Given the description of an element on the screen output the (x, y) to click on. 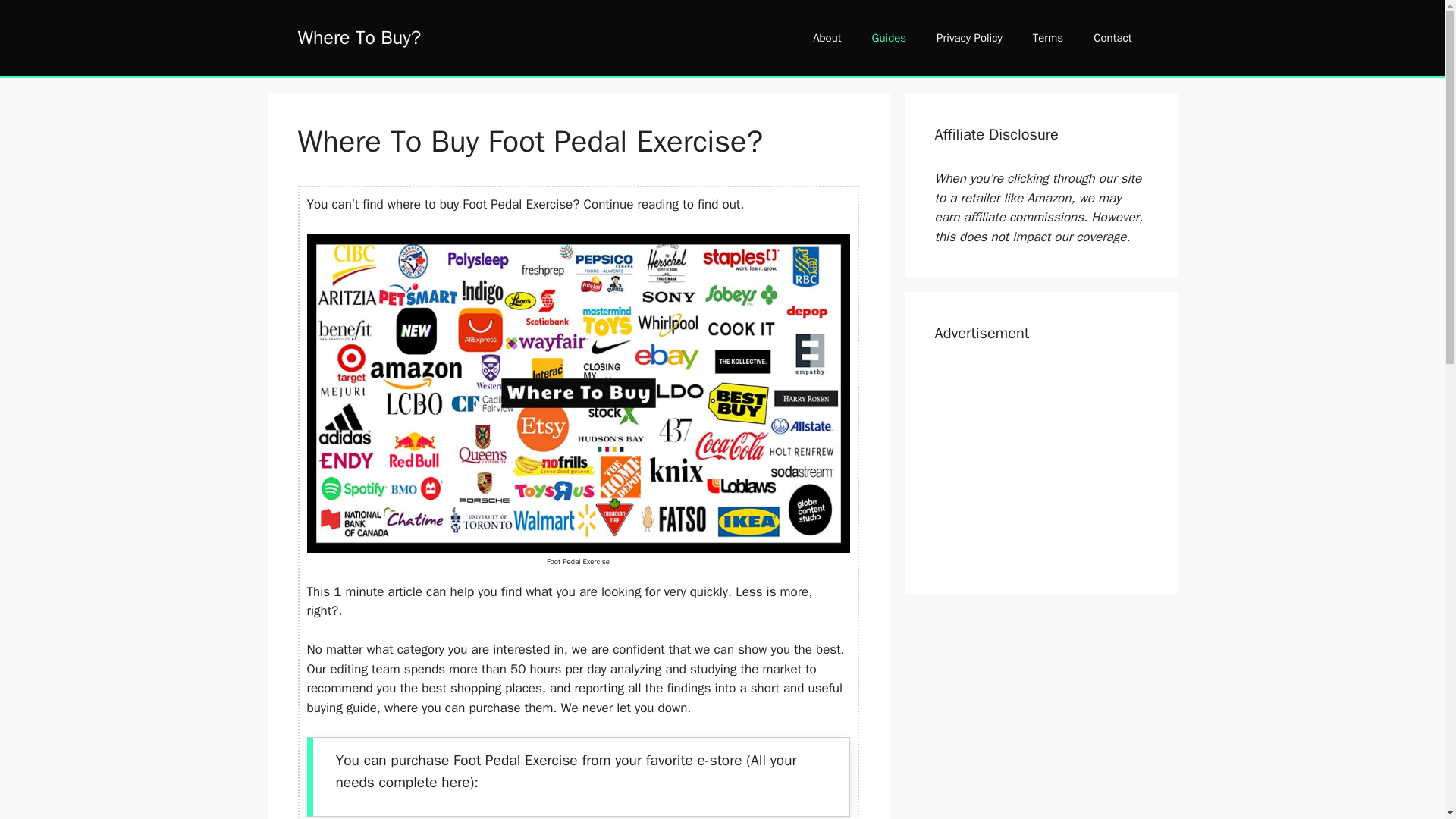
About (826, 37)
Guides (889, 37)
Contact (1112, 37)
Privacy Policy (969, 37)
Terms (1047, 37)
Where To Buy? (358, 37)
